Given the description of an element on the screen output the (x, y) to click on. 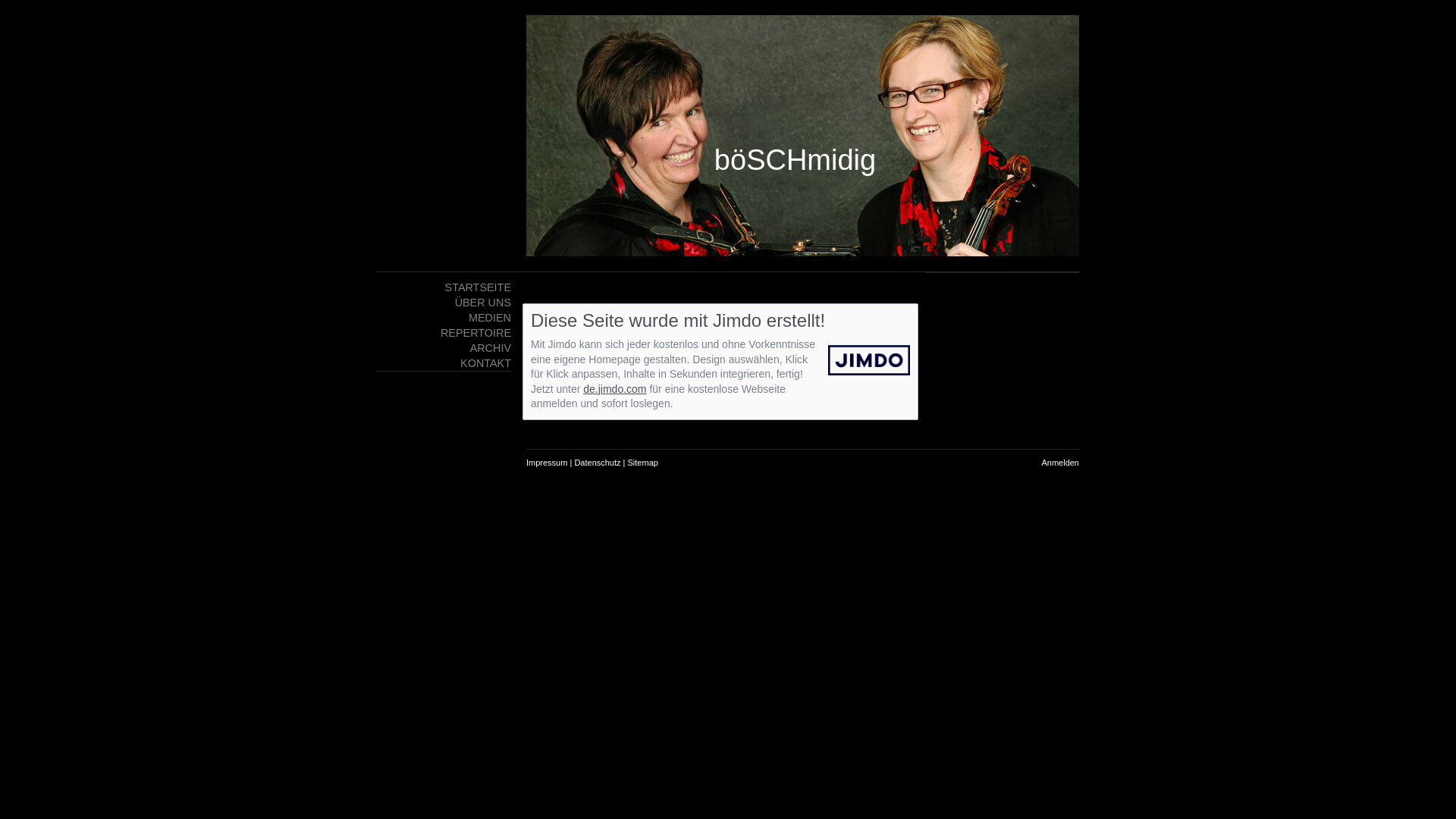
STARTSEITE Element type: text (443, 286)
Jimdo Element type: hover (865, 359)
REPERTOIRE Element type: text (443, 332)
Datenschutz Element type: text (597, 462)
KONTAKT Element type: text (443, 362)
de.jimdo.com Element type: text (614, 388)
Sitemap Element type: text (642, 462)
Anmelden Element type: text (1060, 462)
ARCHIV Element type: text (443, 347)
MEDIEN Element type: text (443, 317)
Impressum Element type: text (546, 462)
